Given the description of an element on the screen output the (x, y) to click on. 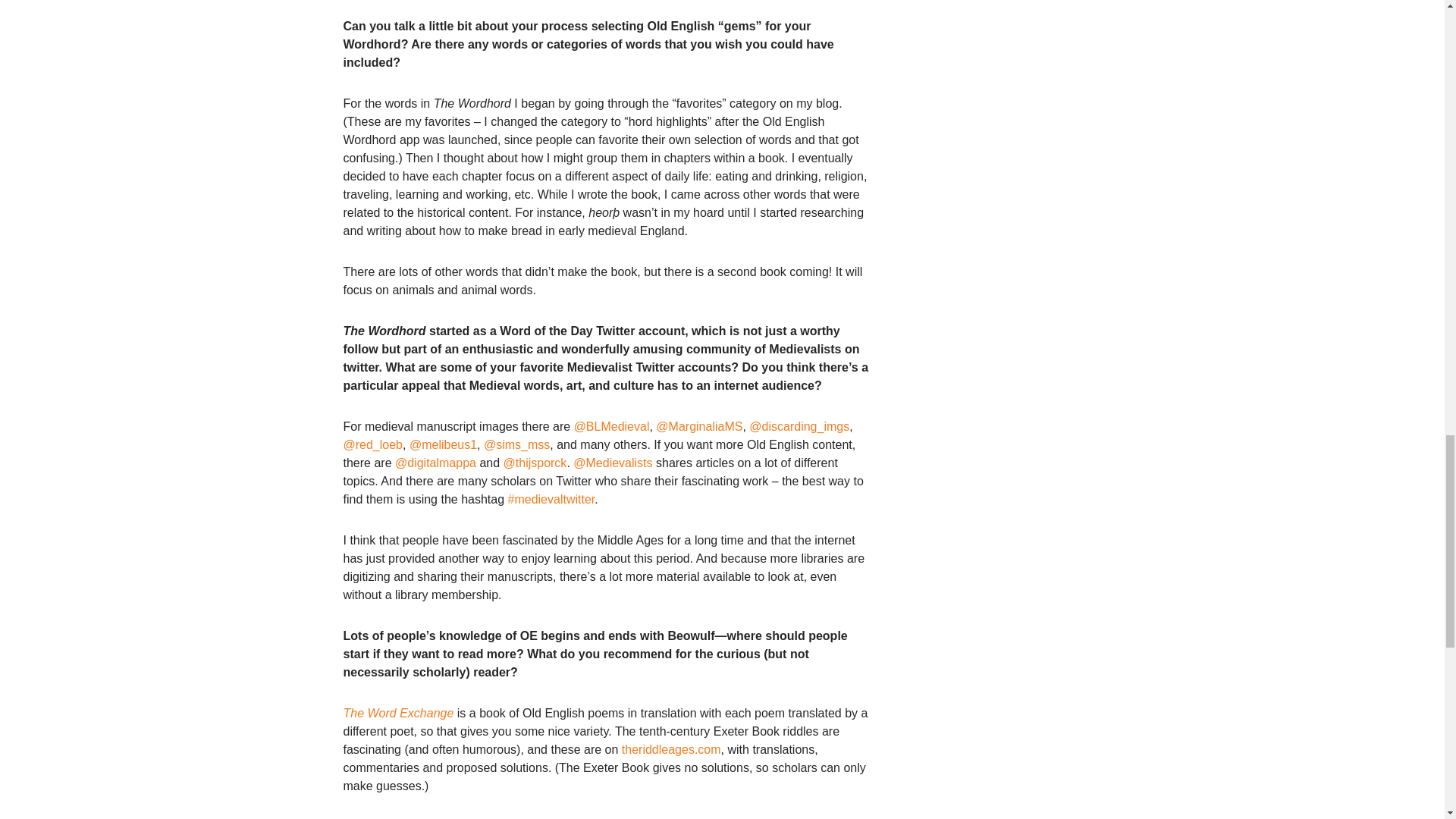
theriddleages.com (670, 748)
The Word Exchange (397, 712)
